Given the description of an element on the screen output the (x, y) to click on. 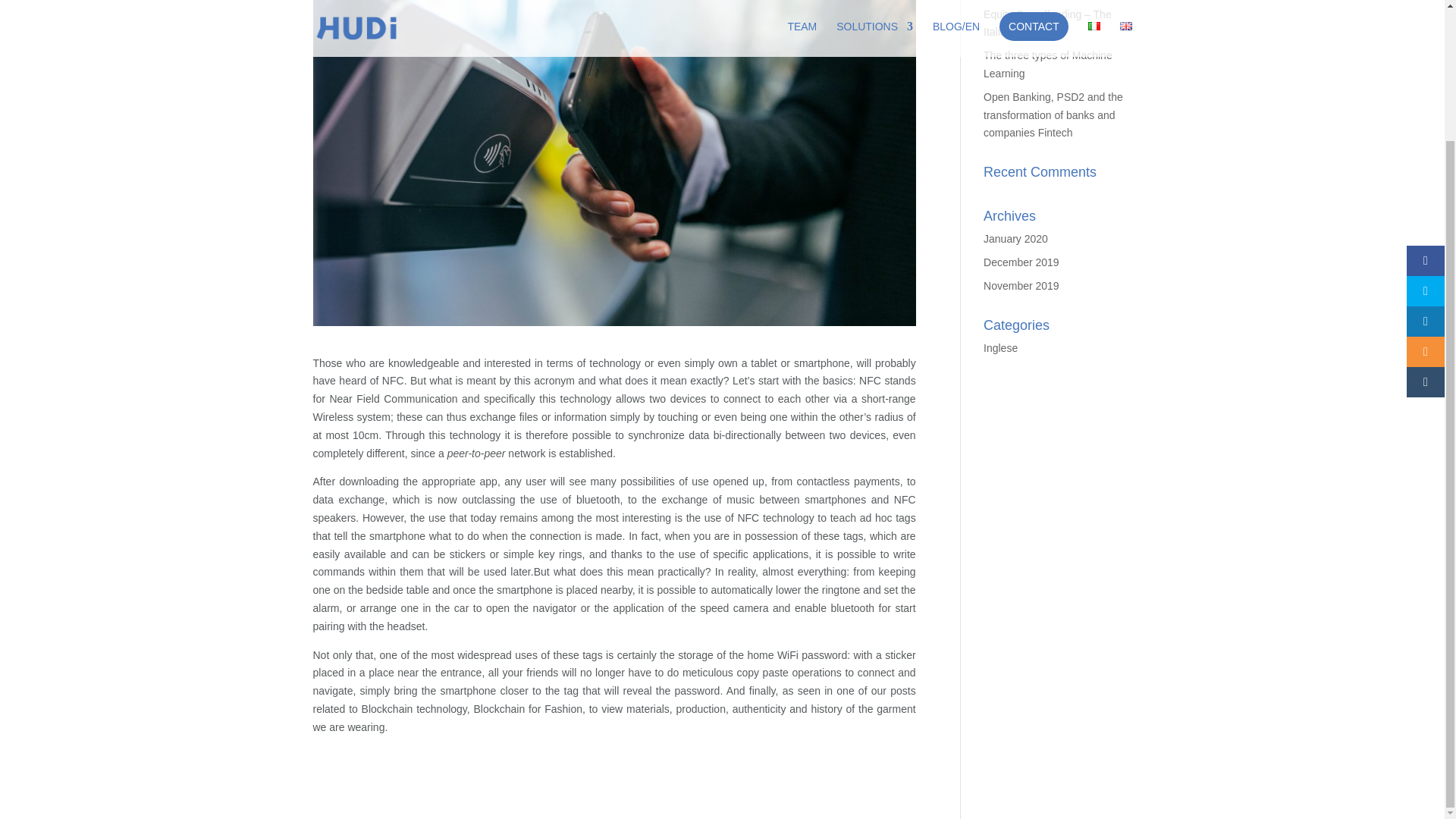
The three types of Machine Learning (1048, 64)
Inglese (1000, 347)
November 2019 (1021, 285)
December 2019 (1021, 262)
January 2020 (1016, 238)
